Given the description of an element on the screen output the (x, y) to click on. 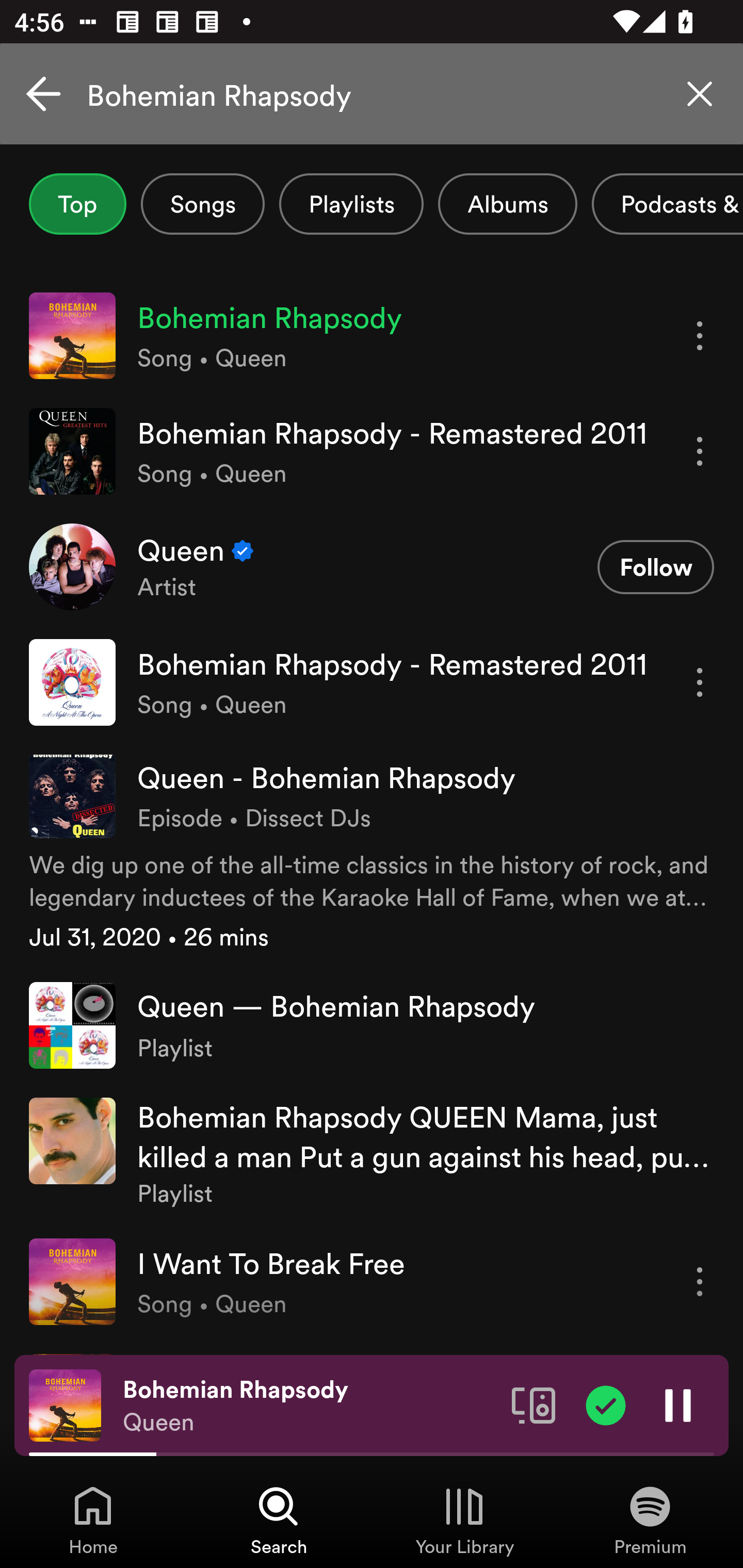
Bohemian Rhapsody (371, 93)
Cancel (43, 93)
Clear search query (699, 93)
Top (77, 203)
Songs (202, 203)
Playlists (351, 203)
Albums (507, 203)
Podcasts & Shows (667, 203)
More options for song Bohemian Rhapsody (699, 336)
Queen Verified Artist Follow Follow (371, 566)
Follow (655, 566)
Queen — Bohemian Rhapsody Playlist (371, 1025)
More options for song I Want To Break Free (699, 1281)
Bohemian Rhapsody Queen (309, 1405)
The cover art of the currently playing track (64, 1404)
Connect to a device. Opens the devices menu (533, 1404)
Item added (605, 1404)
Pause (677, 1404)
Home, Tab 1 of 4 Home Home (92, 1519)
Search, Tab 2 of 4 Search Search (278, 1519)
Your Library, Tab 3 of 4 Your Library Your Library (464, 1519)
Premium, Tab 4 of 4 Premium Premium (650, 1519)
